Given the description of an element on the screen output the (x, y) to click on. 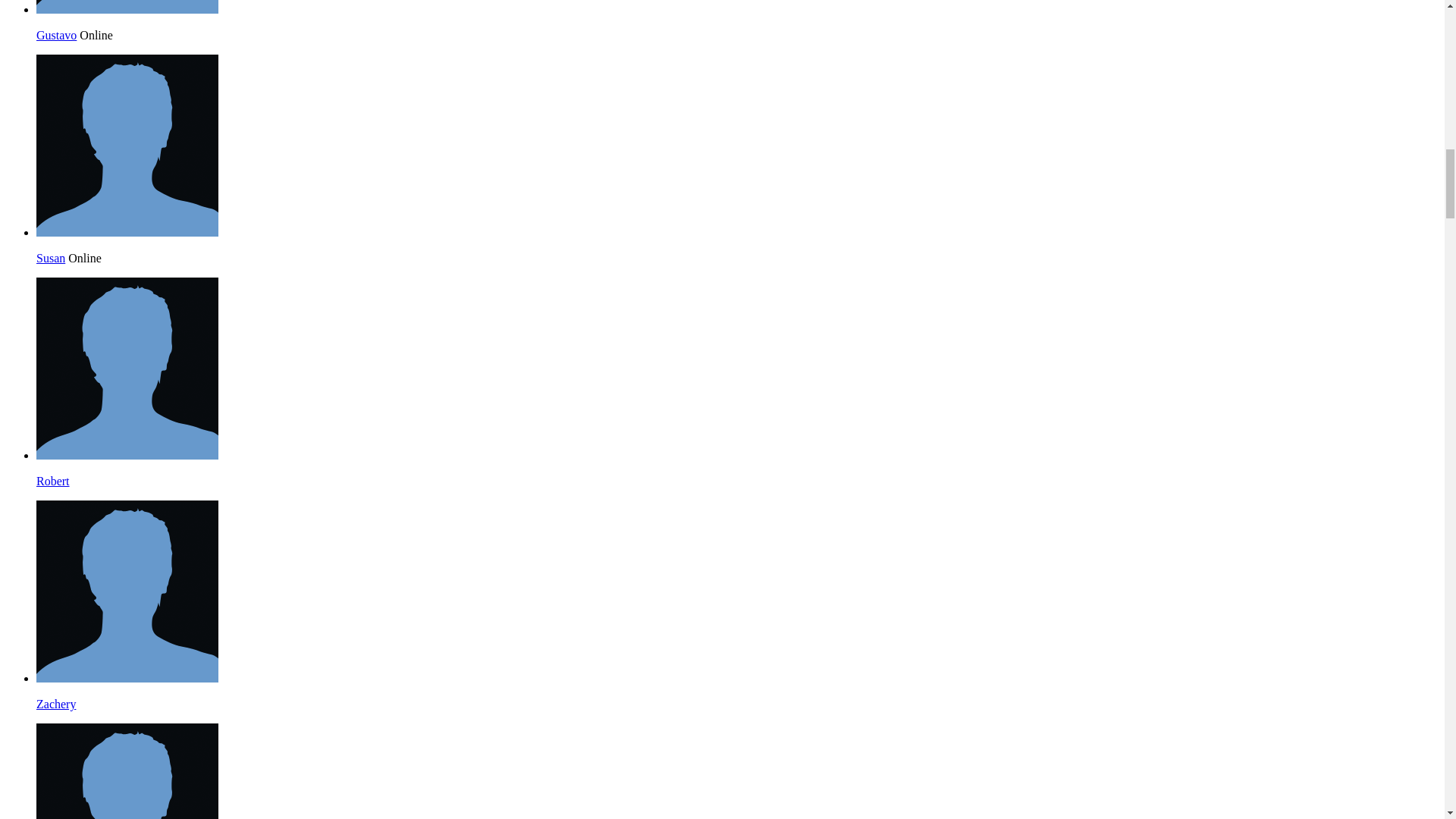
Zachery (55, 703)
Susan (50, 257)
Susan (127, 232)
Zachery (127, 677)
Gustavo (56, 34)
Robert (127, 454)
Gustavo (127, 9)
Robert (52, 481)
